Given the description of an element on the screen output the (x, y) to click on. 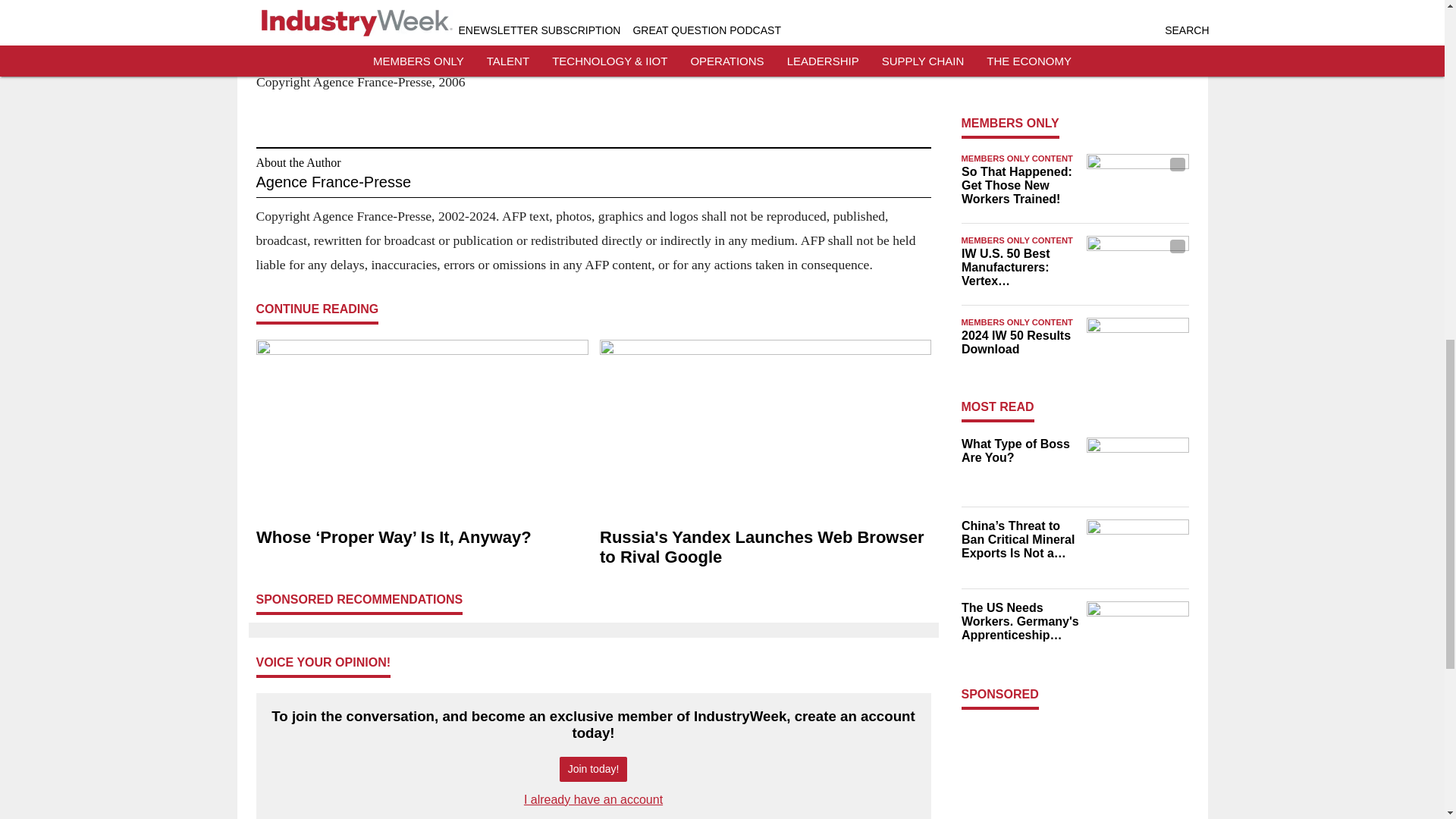
2024 IW 50 Results Download (1019, 342)
I already have an account (593, 799)
MEMBERS ONLY (1009, 123)
Russia's Yandex Launches Web Browser to Rival Google (764, 547)
Join today! (593, 769)
So That Happened: Get Those New Workers Trained! (1019, 185)
